Given the description of an element on the screen output the (x, y) to click on. 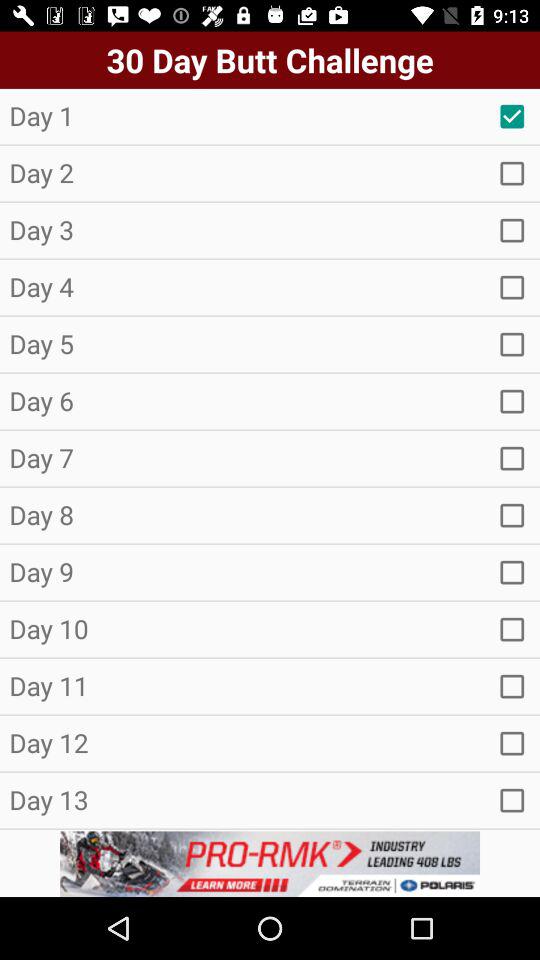
select option (512, 515)
